Given the description of an element on the screen output the (x, y) to click on. 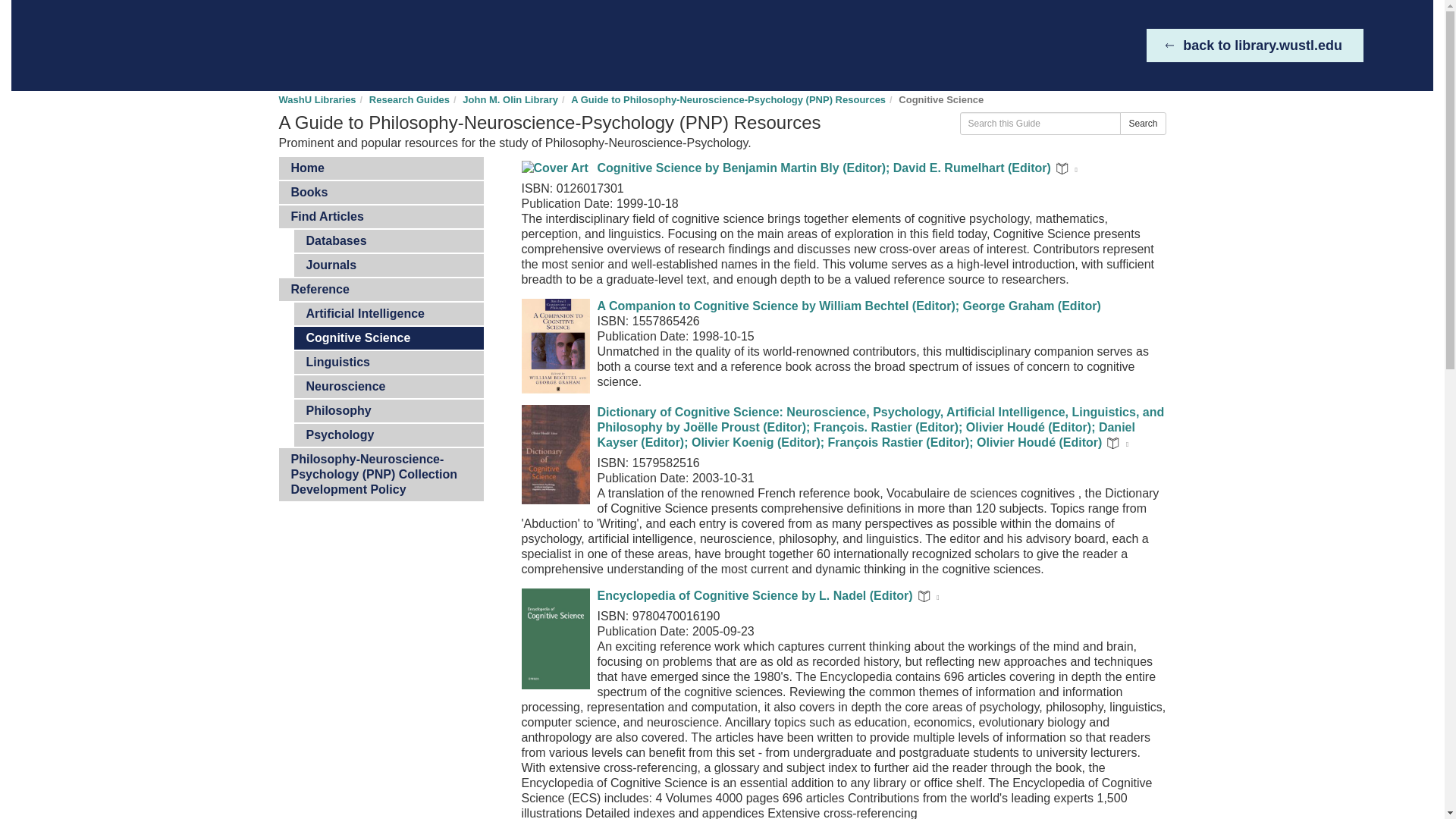
Books (381, 191)
Journals (388, 264)
This link opens in a new window (1075, 170)
Psychology (388, 435)
Search (1142, 123)
Linguistics (388, 362)
WashU Libraries (181, 45)
back to library.wustl.edu (1254, 45)
Philosophy (388, 410)
